Given the description of an element on the screen output the (x, y) to click on. 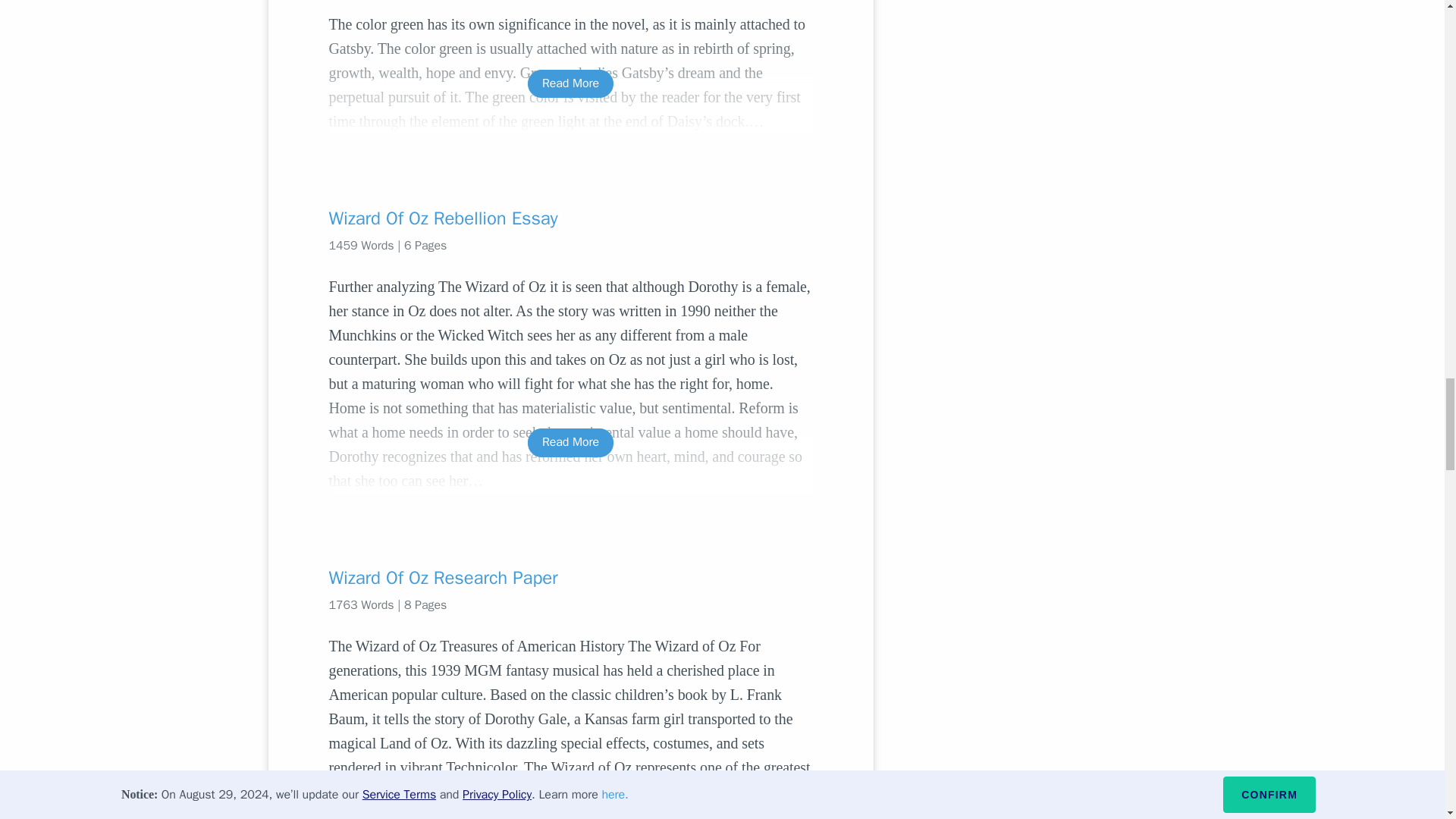
Wizard Of Oz Research Paper (570, 577)
Read More (569, 83)
Read More (569, 815)
Read More (569, 442)
Wizard Of Oz Rebellion Essay (570, 218)
